Given the description of an element on the screen output the (x, y) to click on. 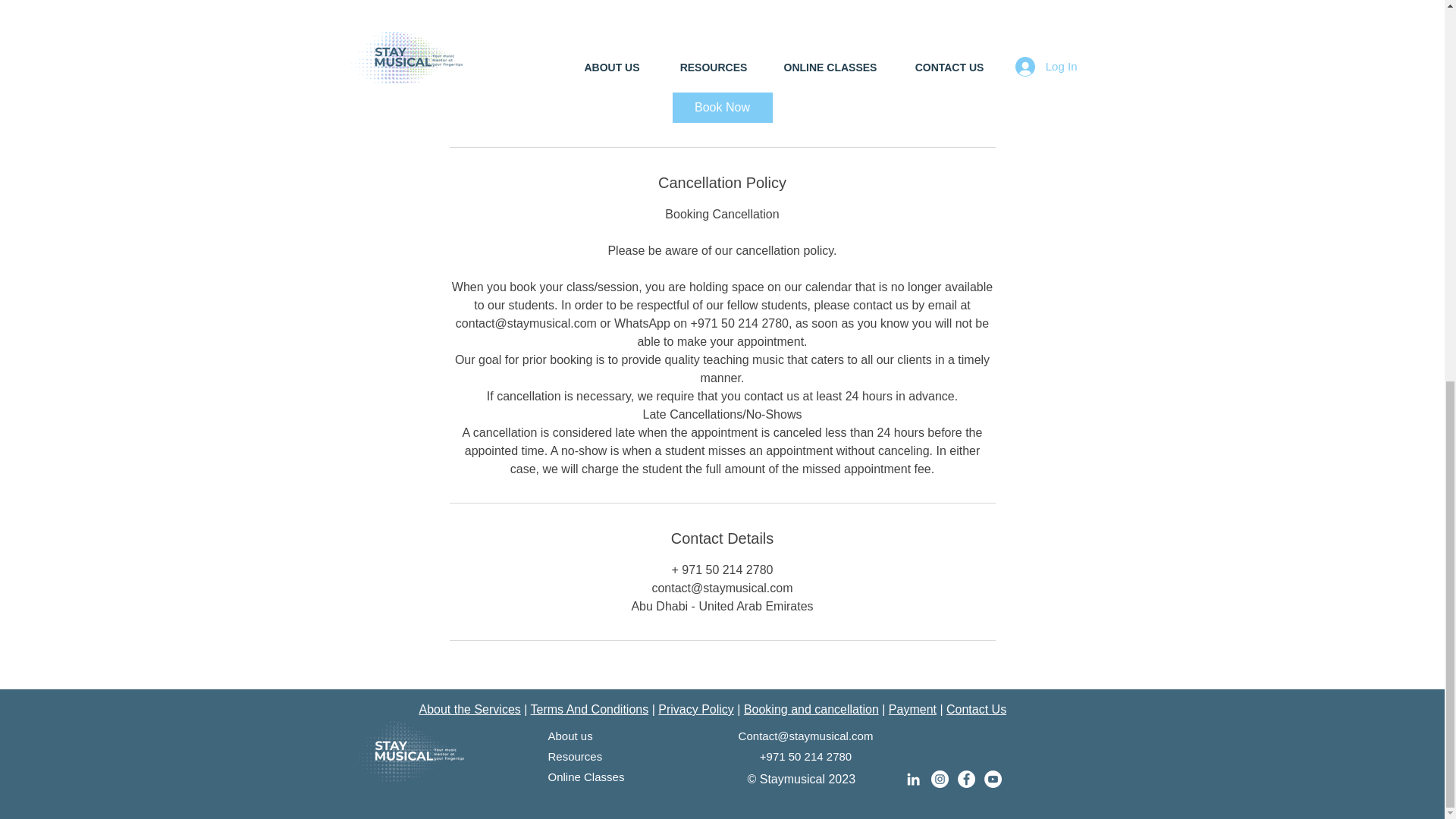
Payment (912, 708)
Online Classes (585, 776)
Book Now (721, 107)
Resources (574, 756)
Terms And Conditions (590, 708)
Booking and cancellation (811, 708)
Contact Us (976, 708)
About us (569, 735)
About the Services (469, 708)
Privacy Policy (695, 708)
